Given the description of an element on the screen output the (x, y) to click on. 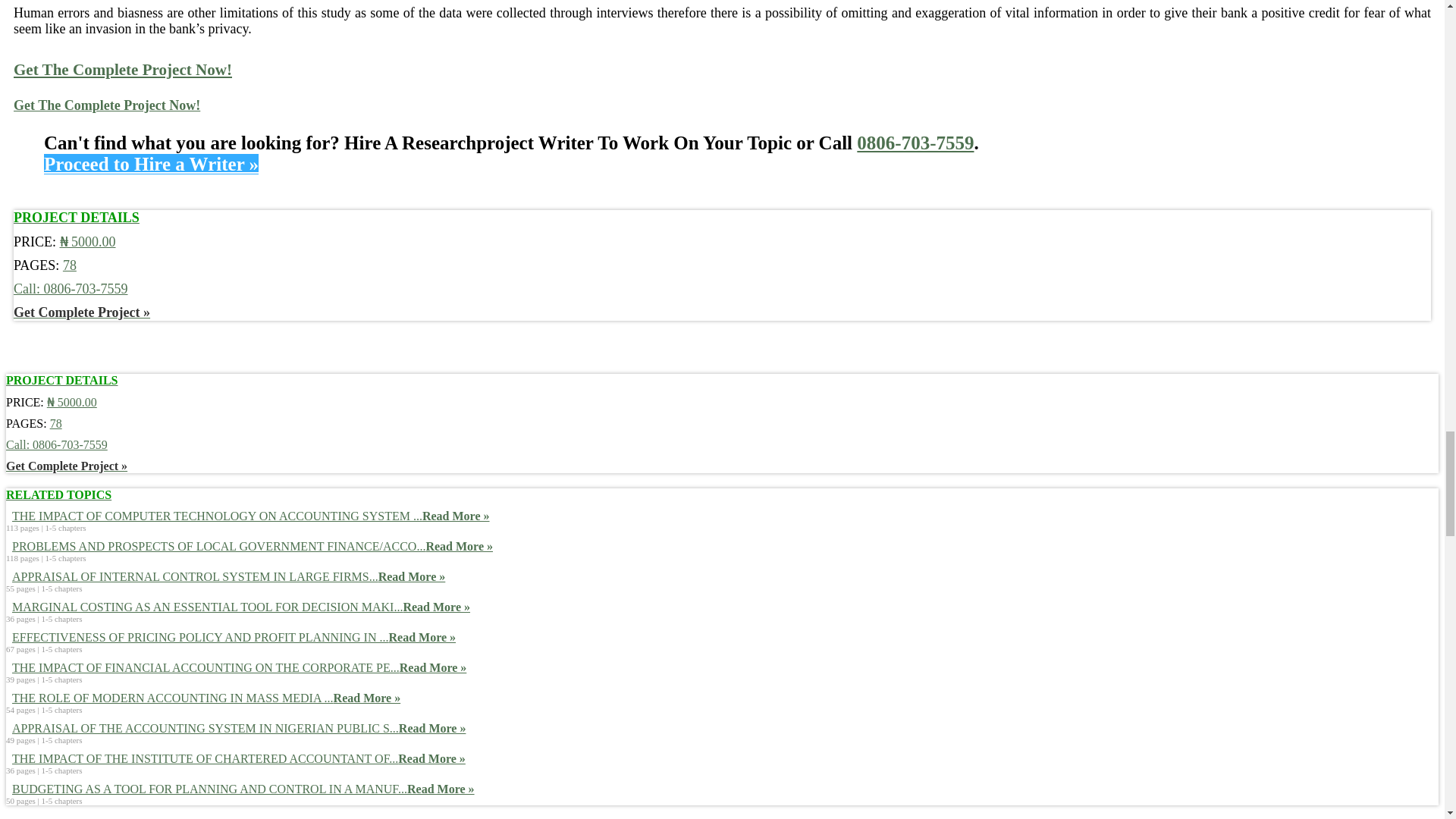
PROJECT DETAILS (61, 380)
Get The Complete Project Now! (122, 69)
0806-703-7559 (915, 142)
Call: 0806-703-7559 (70, 288)
78 (69, 264)
Get The Complete Project Now! (106, 105)
PROJECT DETAILS (76, 217)
